Given the description of an element on the screen output the (x, y) to click on. 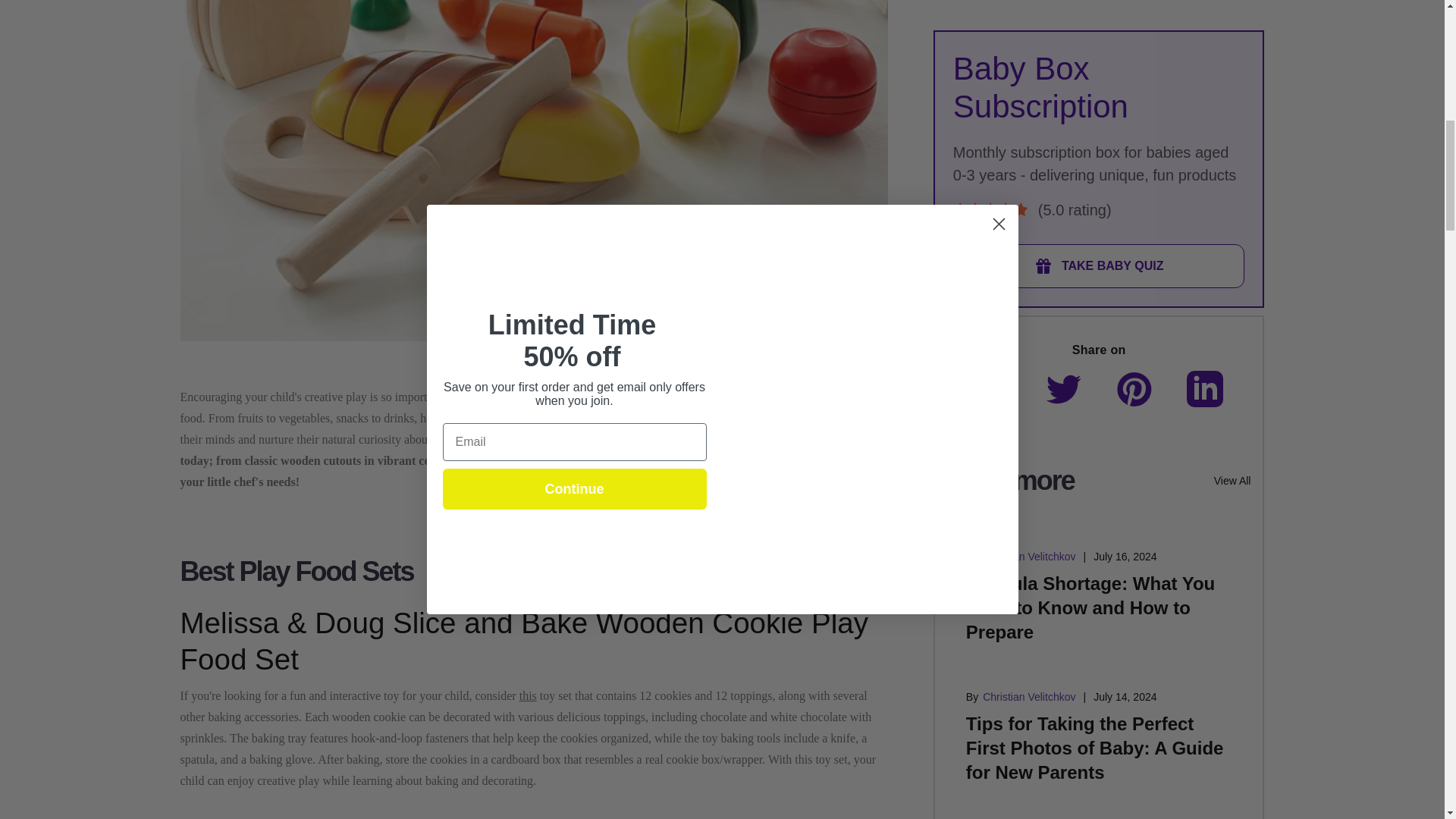
In-Home Daycare: How to Choose the Right Care for Your Child (1078, 574)
this (528, 695)
View All (1232, 167)
Formula Shortage: What You Need to Know and How to Prepare (1090, 294)
